Given the description of an element on the screen output the (x, y) to click on. 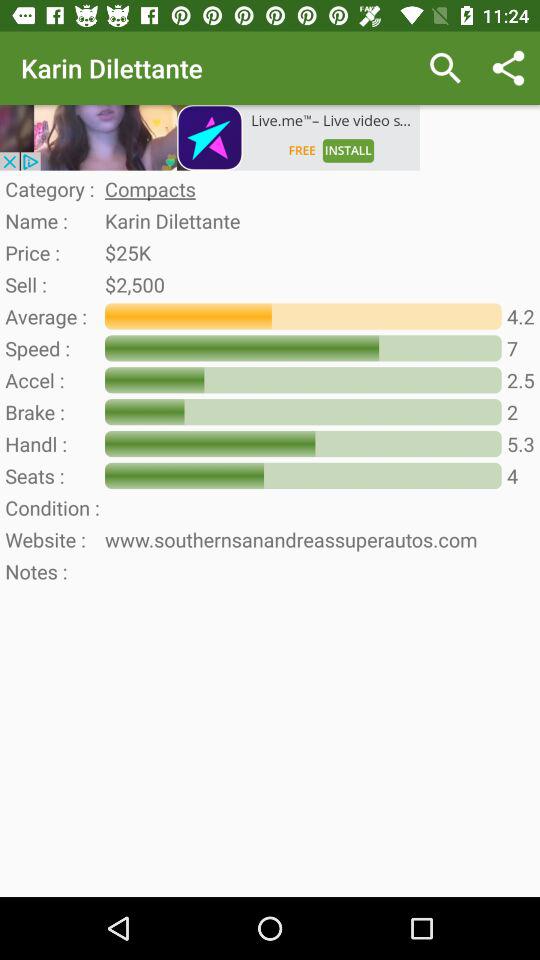
install application (210, 137)
